Given the description of an element on the screen output the (x, y) to click on. 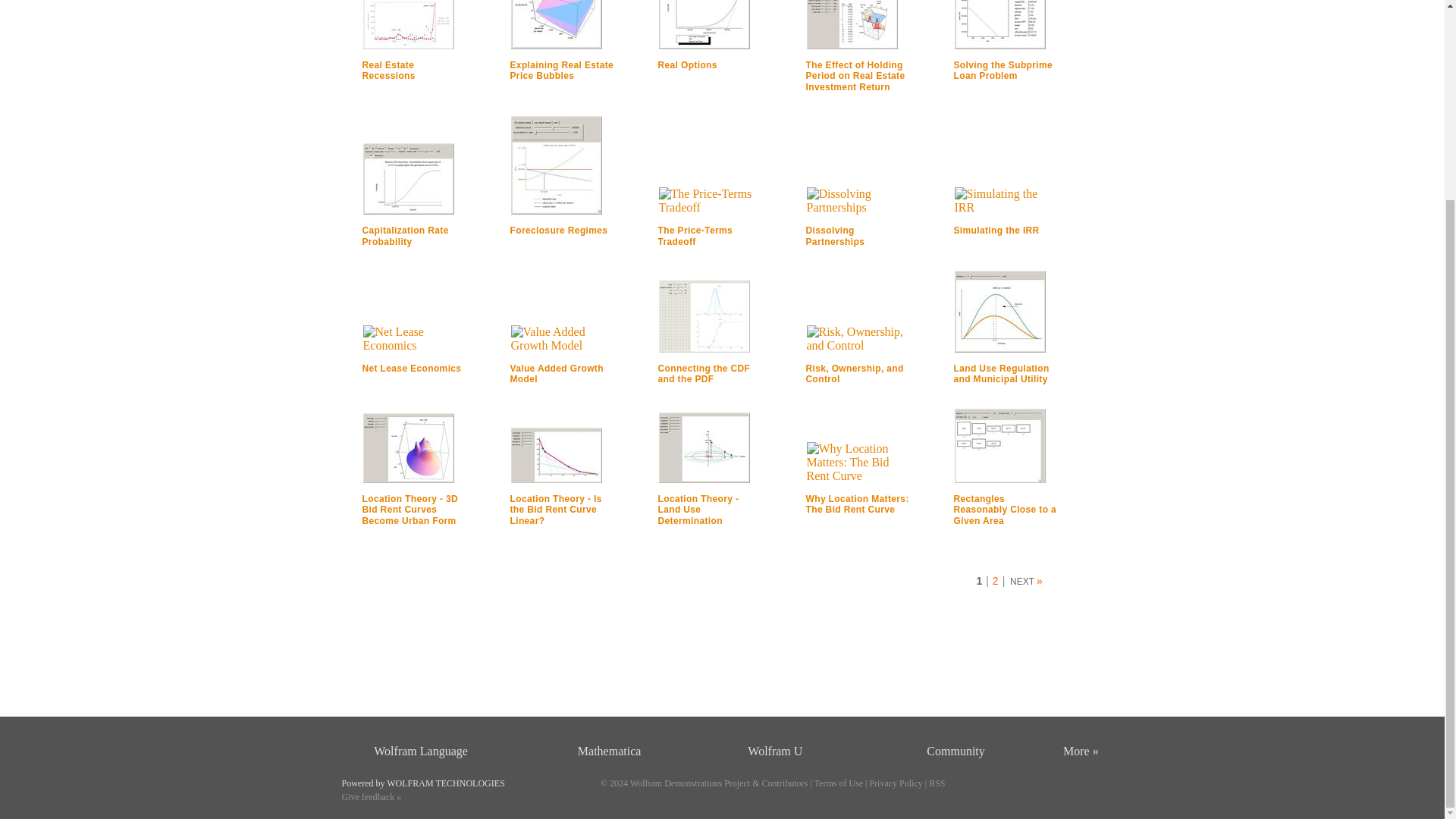
Contributed by: Roger J. Brown (1002, 70)
Contributed by: Roger J. Brown (555, 24)
Net Lease Economics (411, 368)
Contributed by: Roger J. Brown (858, 200)
Contributed by: Roger J. Brown (555, 165)
Contributed by: Roger J. Brown (851, 24)
Contributed by: Roger J. Brown (405, 235)
Contributed by: Roger J. Brown (687, 64)
Real Estate Recessions (388, 70)
Contributed by: Roger J. Brown (408, 178)
